Given the description of an element on the screen output the (x, y) to click on. 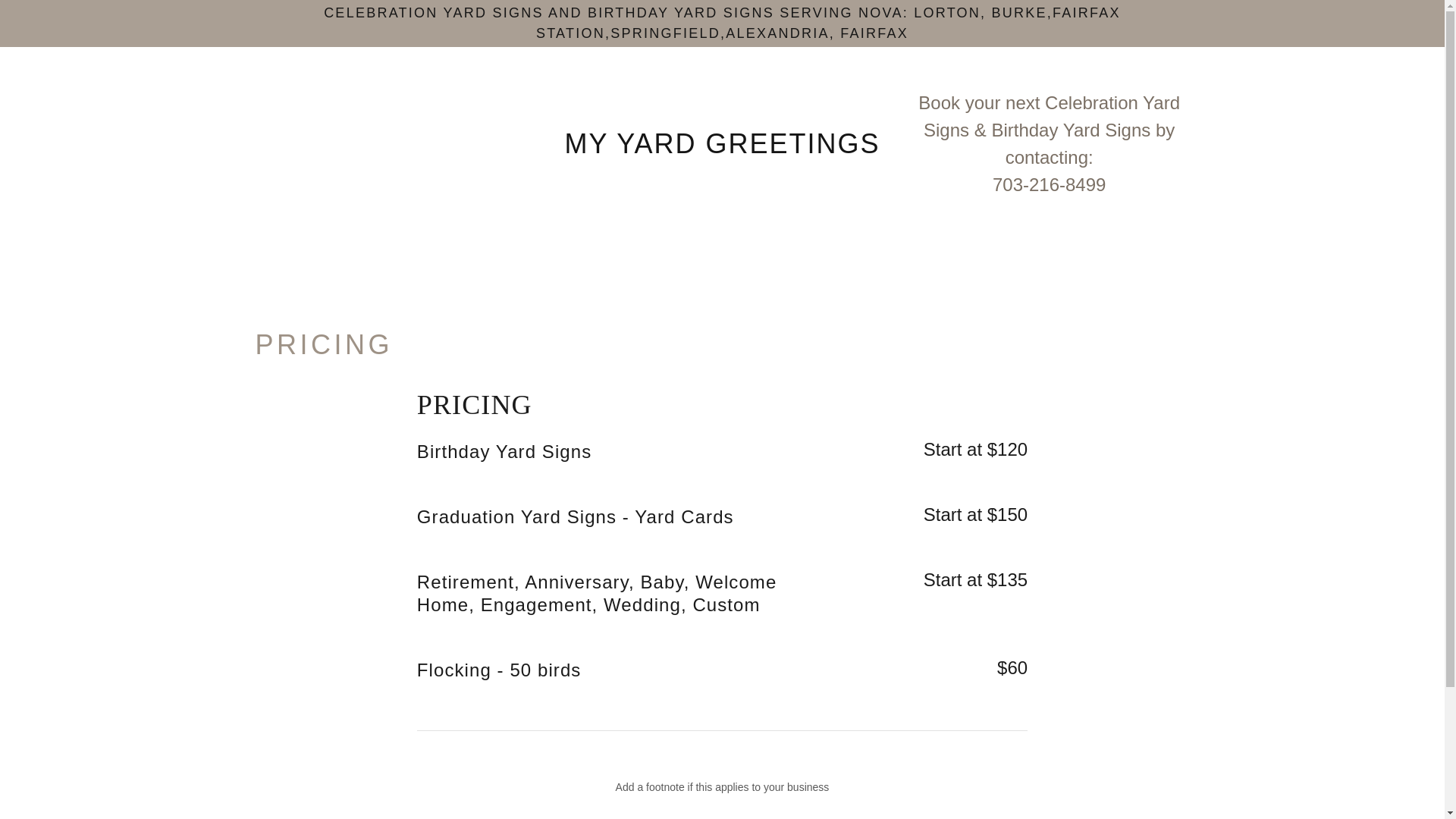
MY YARD GREETINGS (721, 148)
703-216-8499 (1048, 184)
My Yard Greetings (721, 148)
